Given the description of an element on the screen output the (x, y) to click on. 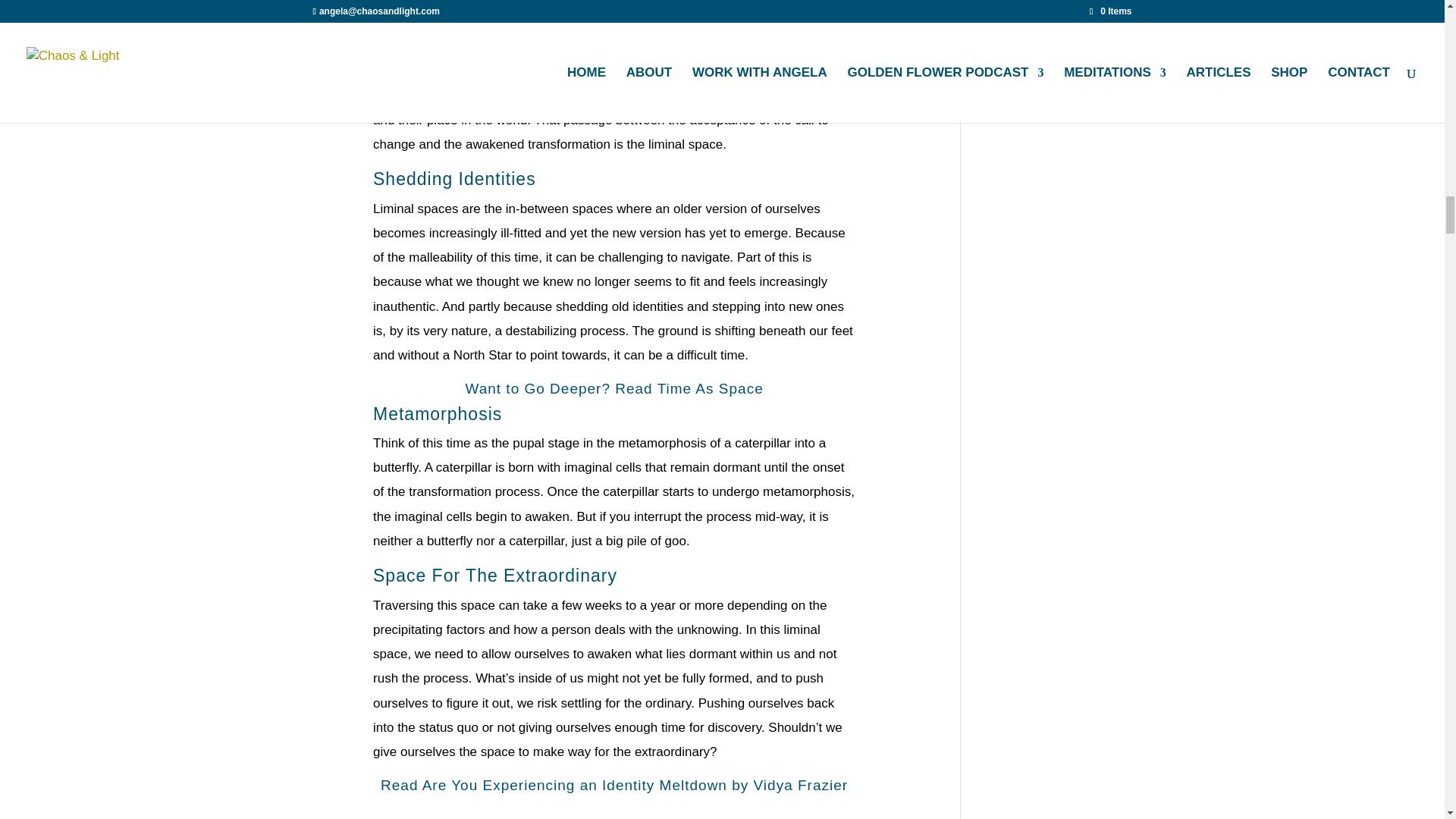
Want to Go Deeper? Read Time As Space (613, 388)
